Given the description of an element on the screen output the (x, y) to click on. 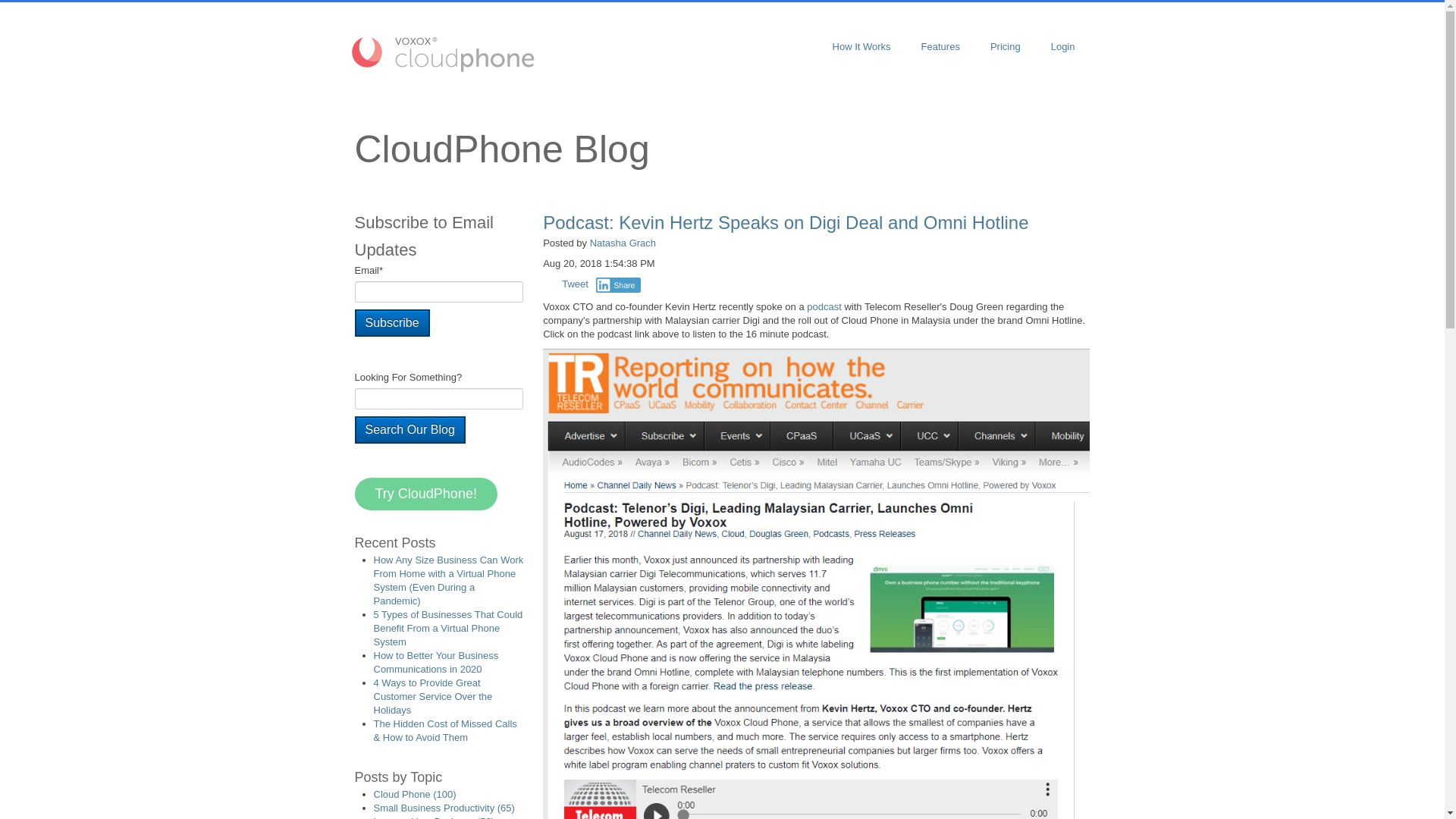
How to Better Your Business Communications in 2020 (434, 662)
Opens a widget where you can chat to one of our agents (1376, 792)
Subscribe (392, 322)
Login (1062, 46)
voxox-cloudphone-4.png (443, 53)
Try CloudPhone! (426, 493)
How It Works (860, 46)
4 Ways to Provide Great Customer Service Over the Holidays (432, 696)
Subscribe (392, 322)
Search Our Blog (410, 429)
Pricing (1005, 46)
Features (940, 46)
Try CloudPhone! (426, 493)
